Given the description of an element on the screen output the (x, y) to click on. 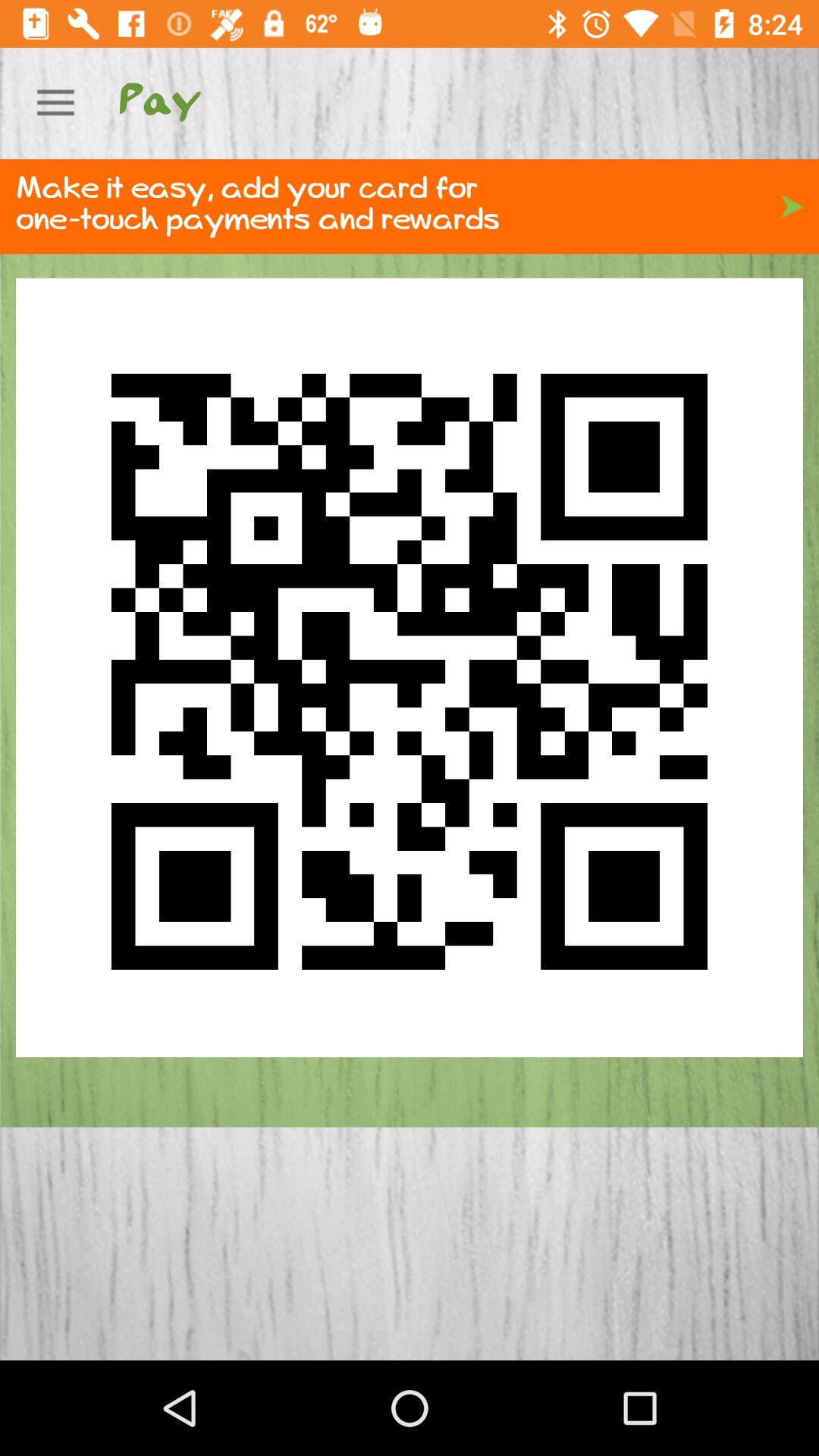
tap make it easy item (409, 206)
